Given the description of an element on the screen output the (x, y) to click on. 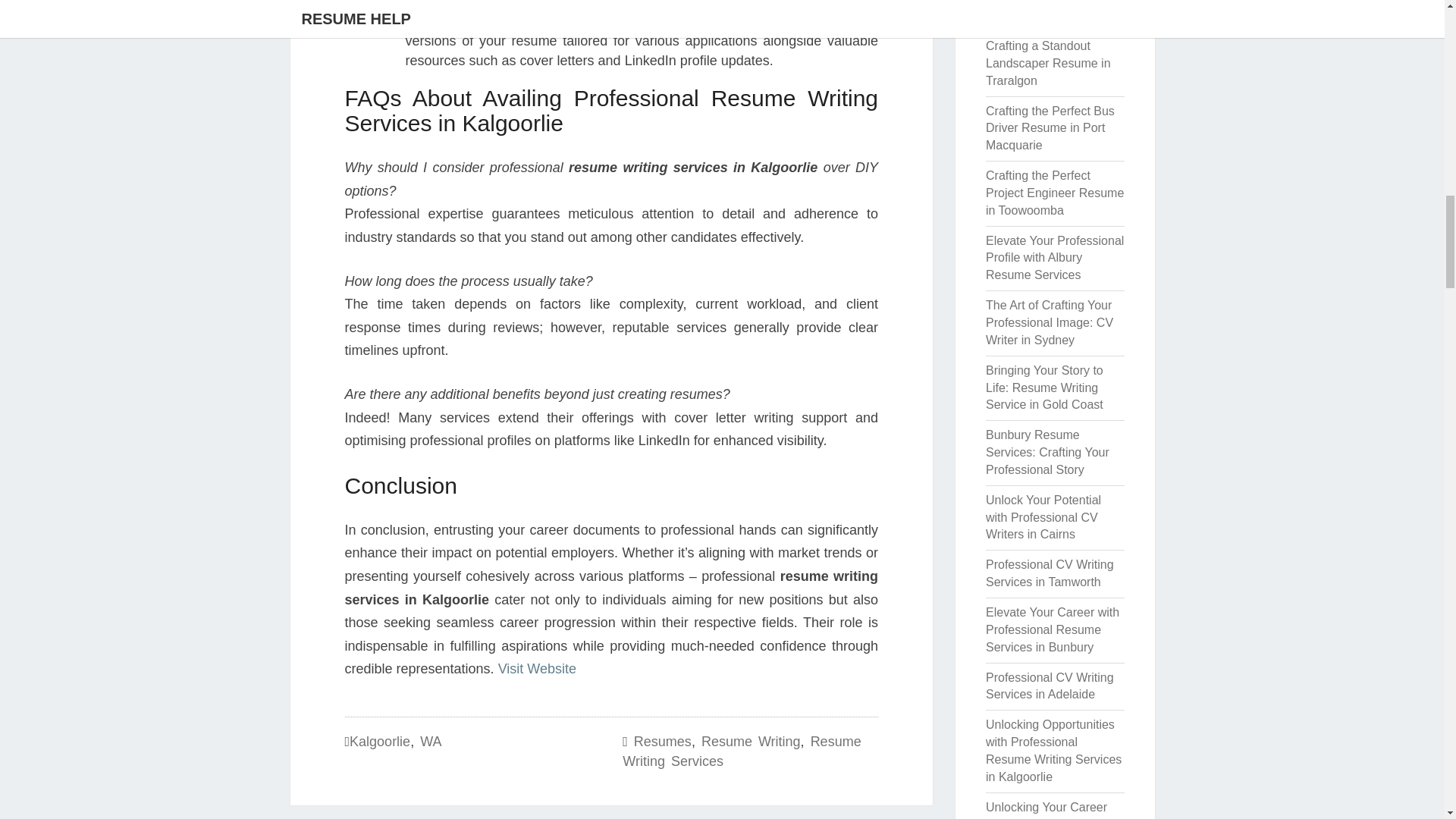
WA (430, 741)
Crafting the Perfect Bus Driver Resume in Port Macquarie (1050, 128)
Bunbury Resume Services: Crafting Your Professional Story (1047, 451)
Kalgoorlie (379, 741)
Resume Writing Services (741, 751)
Professional CV Writing Services in Tamworth (1049, 572)
Unlock Your Potential with Professional CV Writers in Cairns (1042, 517)
Resume Writing (750, 741)
Crafting a Winning Roofer Resume in Launceston (1035, 11)
Crafting the Perfect Project Engineer Resume in Toowoomba (1054, 192)
Resumes (662, 741)
Crafting a Standout Landscaper Resume in Traralgon (1047, 62)
